Given the description of an element on the screen output the (x, y) to click on. 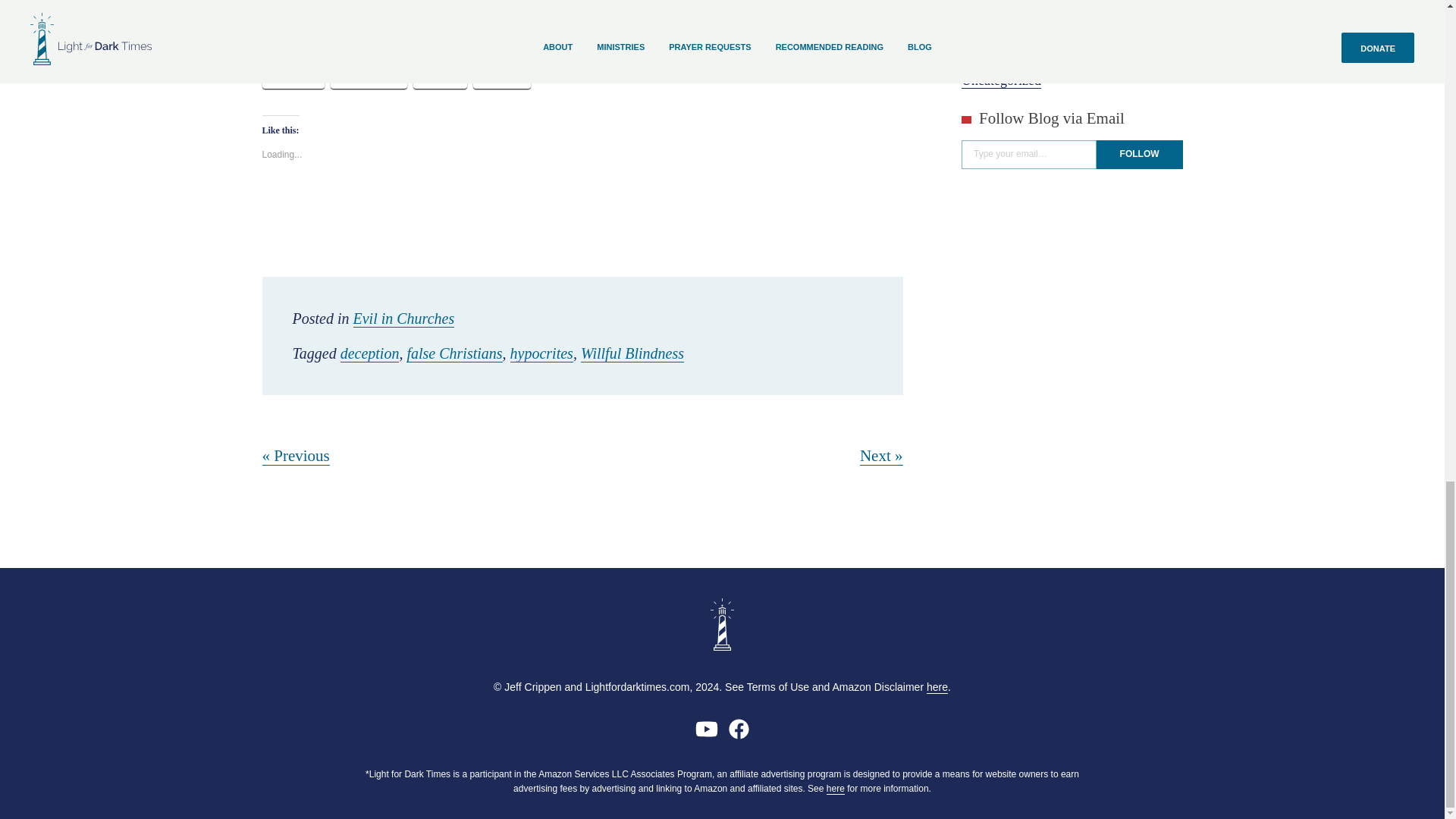
Please fill in this field. (1028, 154)
Twitter (293, 77)
Like or Reblog (582, 207)
Visit our Facebook Page (738, 734)
Click to email a link to a friend (502, 77)
Evil in Churches (403, 318)
Click to share on Twitter (293, 77)
false Christians (454, 353)
deception (369, 353)
Facebook (368, 77)
Click to print (440, 77)
hypocrites (542, 353)
Print (440, 77)
Email (502, 77)
Willful Blindness (632, 353)
